Given the description of an element on the screen output the (x, y) to click on. 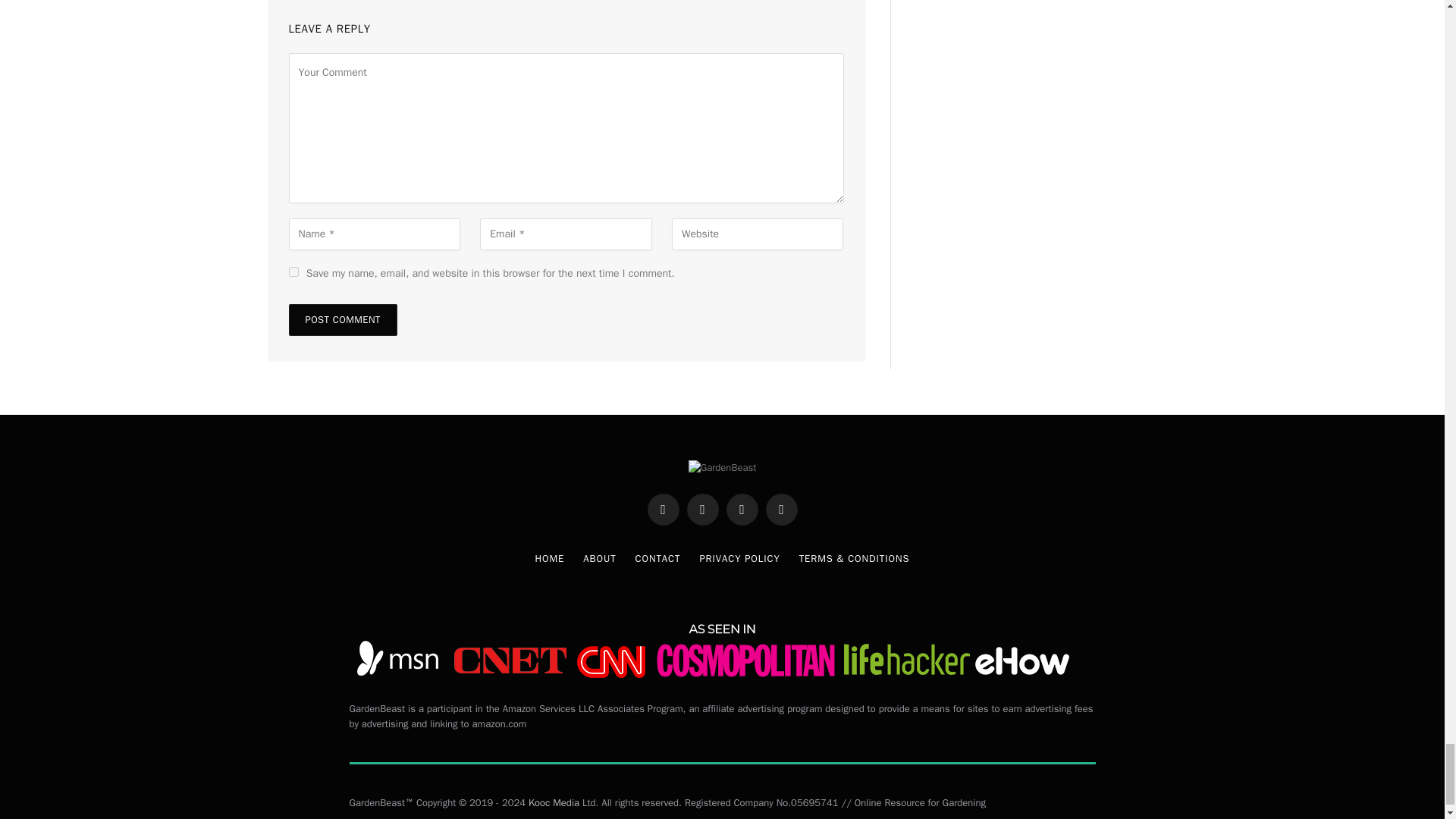
yes (293, 271)
Post Comment (342, 319)
